Given the description of an element on the screen output the (x, y) to click on. 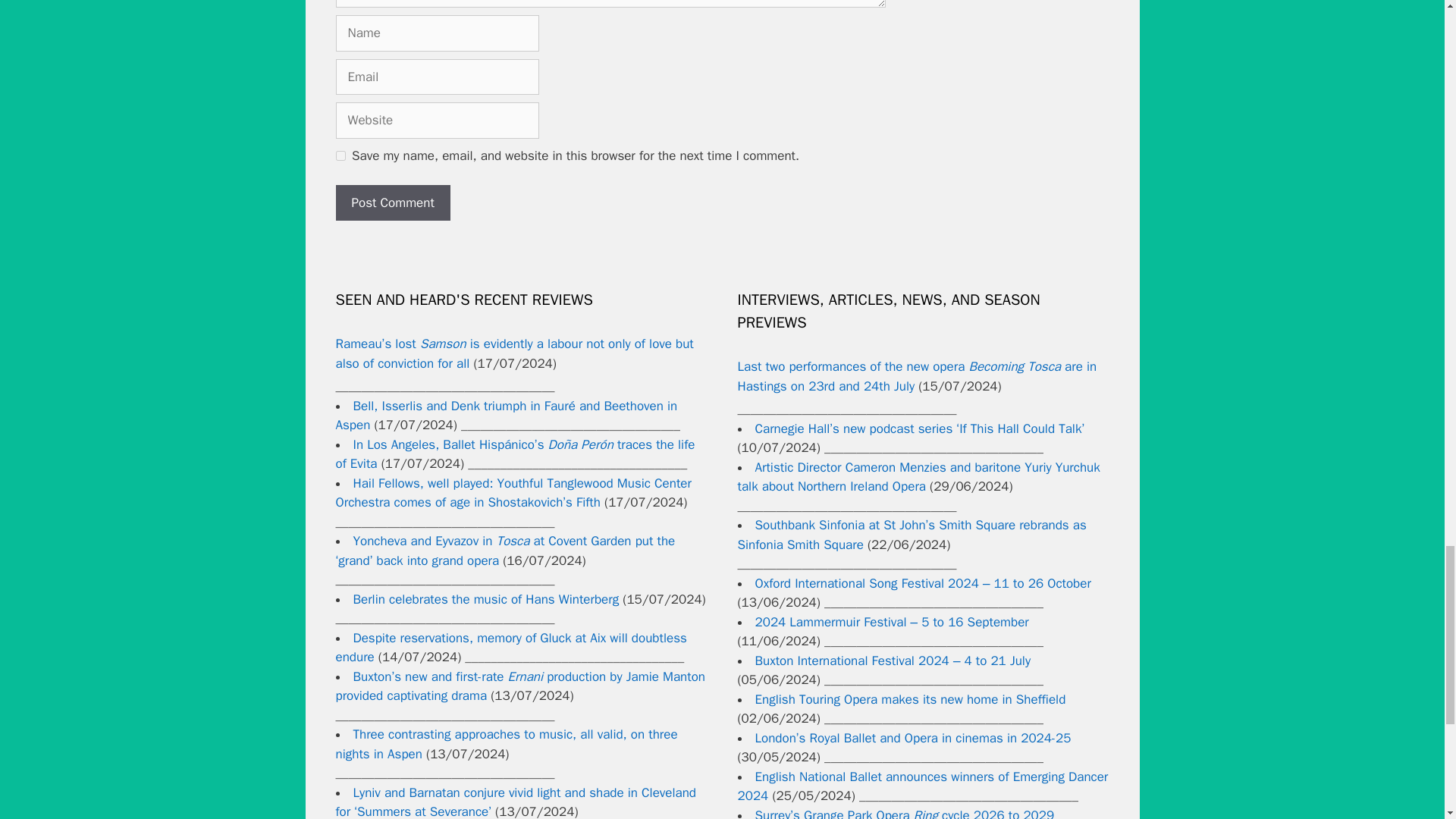
Post Comment (391, 203)
yes (339, 155)
